Given the description of an element on the screen output the (x, y) to click on. 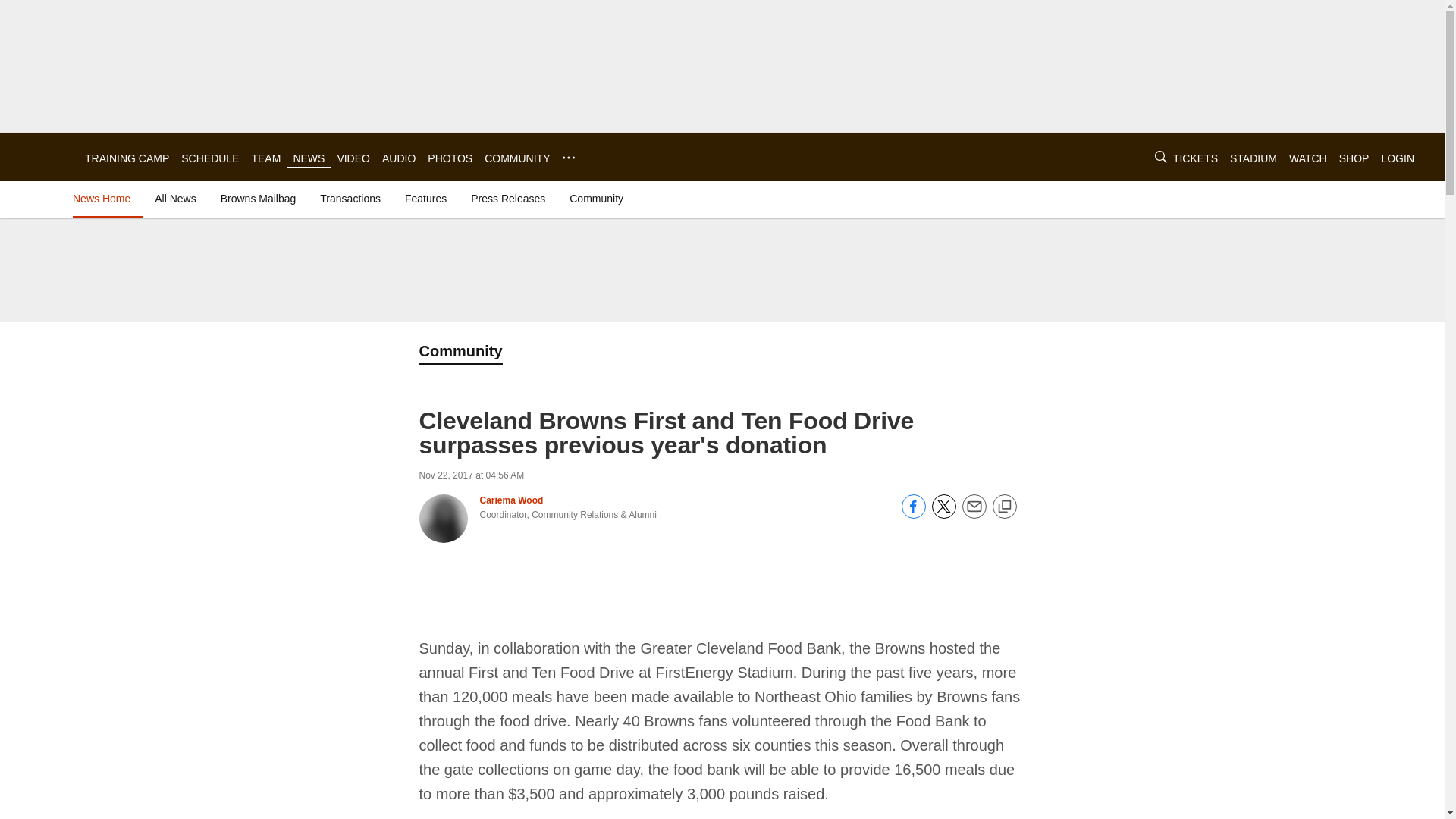
AUDIO (397, 158)
Community (595, 198)
STADIUM (1253, 158)
VIDEO (352, 158)
PHOTOS (449, 158)
Cariema Wood (511, 500)
SHOP (1354, 158)
Transactions (350, 198)
AUDIO (397, 158)
News Home (104, 198)
TRAINING CAMP (126, 158)
Press Releases (507, 198)
TICKETS (1195, 158)
SHOP (1354, 158)
WATCH (1307, 158)
